Given the description of an element on the screen output the (x, y) to click on. 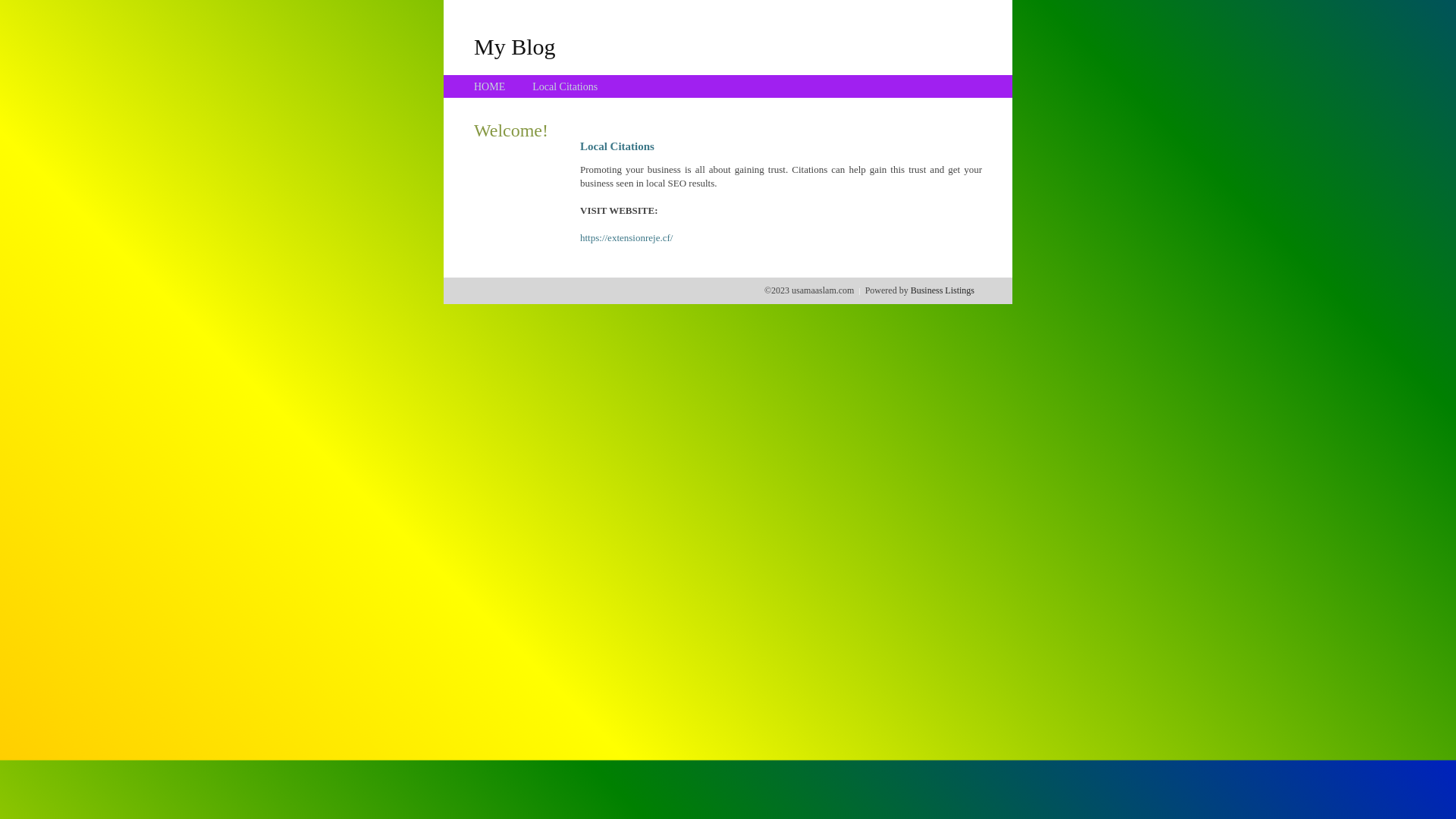
My Blog Element type: text (514, 46)
HOME Element type: text (489, 86)
https://extensionreje.cf/ Element type: text (626, 237)
Local Citations Element type: text (564, 86)
Business Listings Element type: text (942, 290)
